Given the description of an element on the screen output the (x, y) to click on. 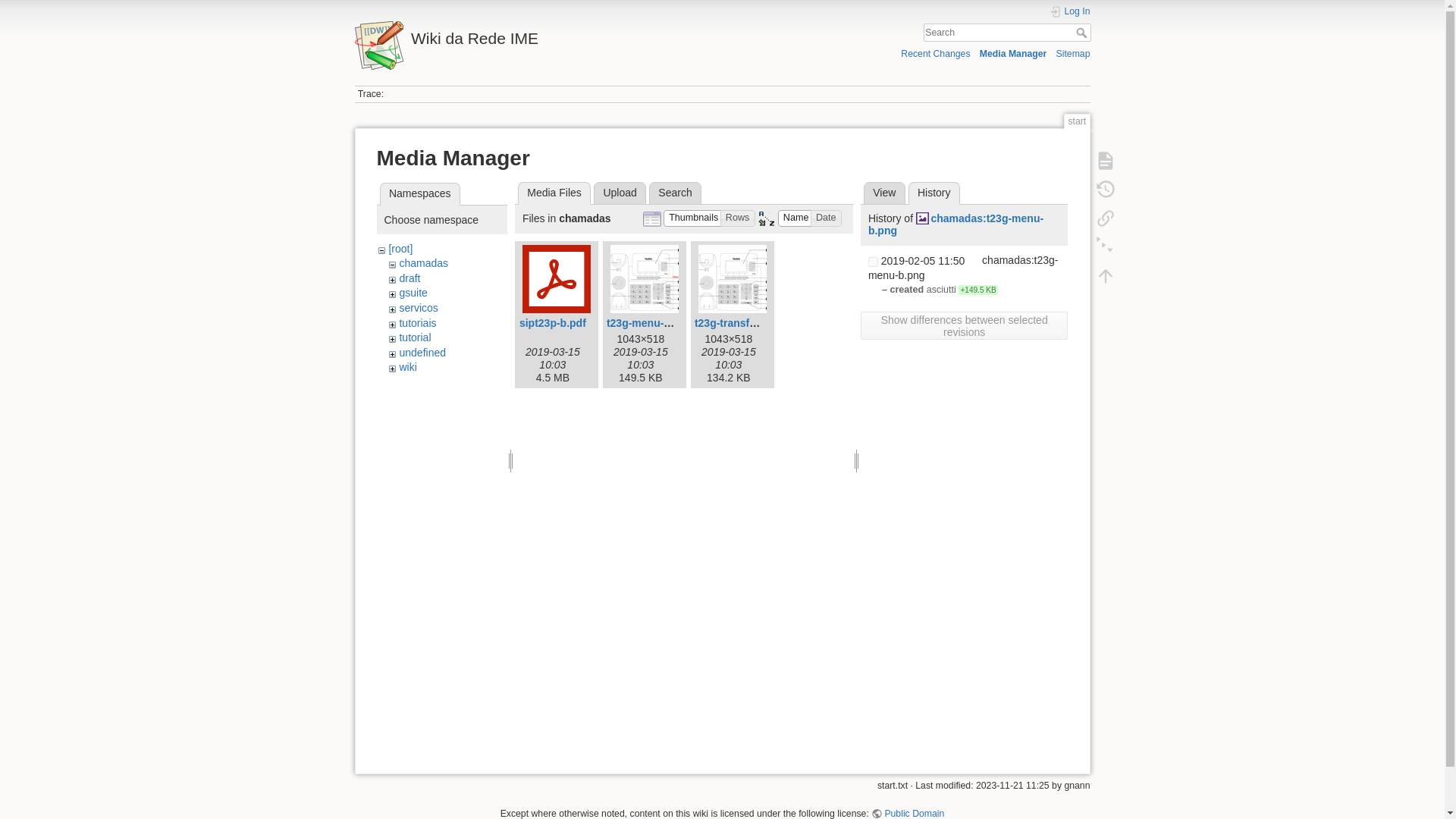
Recent Changes Element type: text (934, 53)
tutoriais Element type: text (417, 322)
Show page [v] Element type: hover (1104, 160)
Search Element type: text (675, 193)
servicos Element type: text (417, 307)
Media Manager Element type: text (1013, 53)
Log In Element type: text (1069, 11)
Back to top [t] Element type: hover (1104, 275)
undefined Element type: text (421, 352)
t23g-menu-b.png Element type: text (649, 322)
Sitemap Element type: text (1073, 53)
gsuite Element type: text (412, 292)
chamadas:t23g-menu-b.png Element type: text (955, 224)
Backlinks Element type: hover (1104, 217)
wiki Element type: text (407, 366)
Upload Element type: text (619, 193)
Search Element type: text (1082, 32)
Show differences between selected revisions Element type: text (964, 325)
t23g-transf-b.png Element type: text (737, 322)
Old revisions [o] Element type: hover (1104, 189)
chamadas Element type: text (423, 263)
Wiki da Rede IME Element type: text (534, 34)
[F] Element type: hover (1007, 32)
tutorial Element type: text (414, 337)
draft Element type: text (409, 278)
[root] Element type: text (400, 248)
Fold/unfold all Element type: hover (1104, 246)
sipt23p-b.pdf Element type: text (552, 322)
View Element type: text (883, 193)
